Given the description of an element on the screen output the (x, y) to click on. 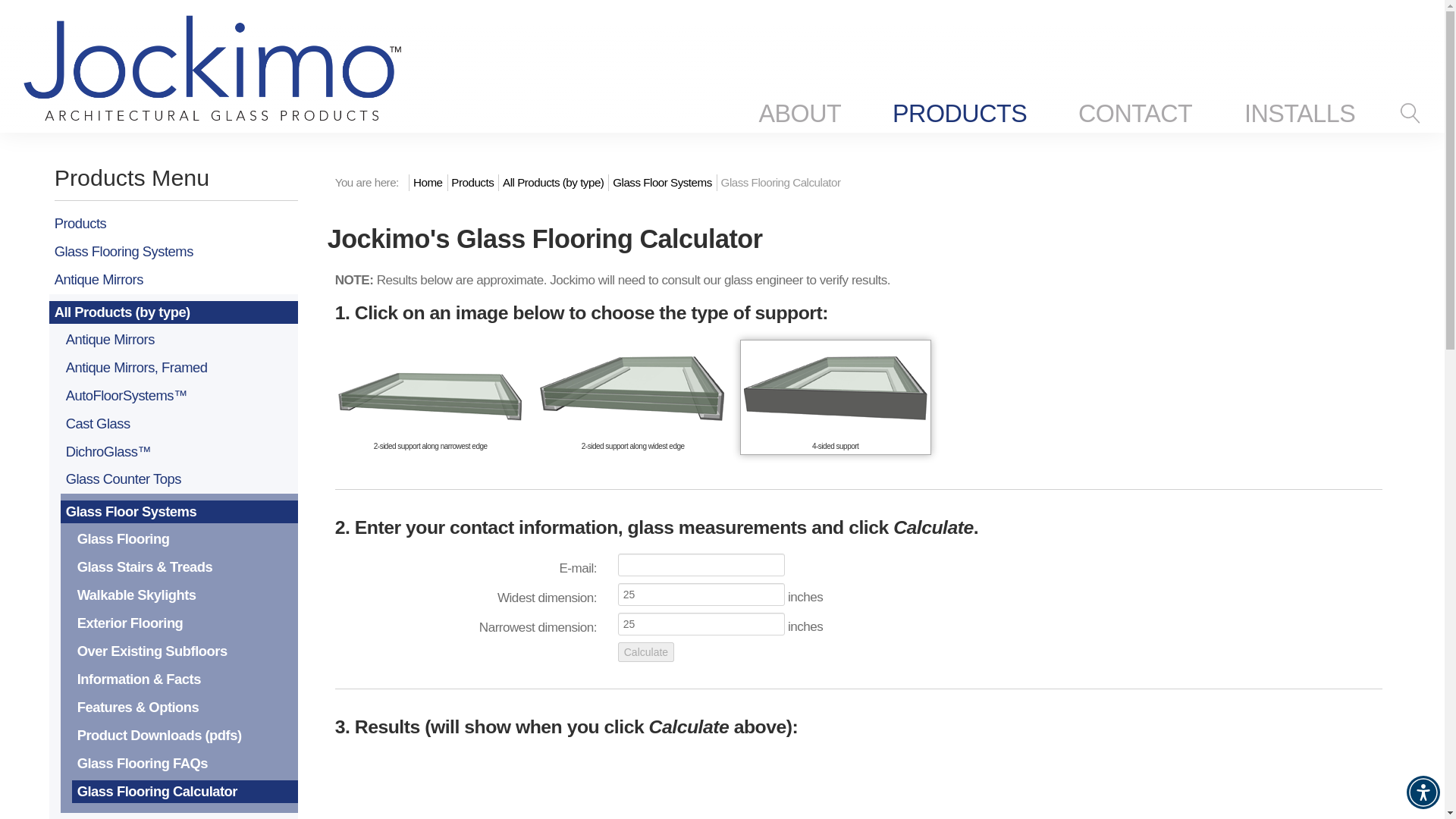
Products (472, 182)
PRODUCTS (959, 113)
Calculate (645, 651)
Exterior Flooring (184, 622)
INSTALLS (1299, 113)
Glass Floor Systems (661, 182)
Antique Mirrors (179, 339)
Calculate (645, 651)
Antique Mirrors (173, 279)
Walkable Skylights (184, 594)
